Given the description of an element on the screen output the (x, y) to click on. 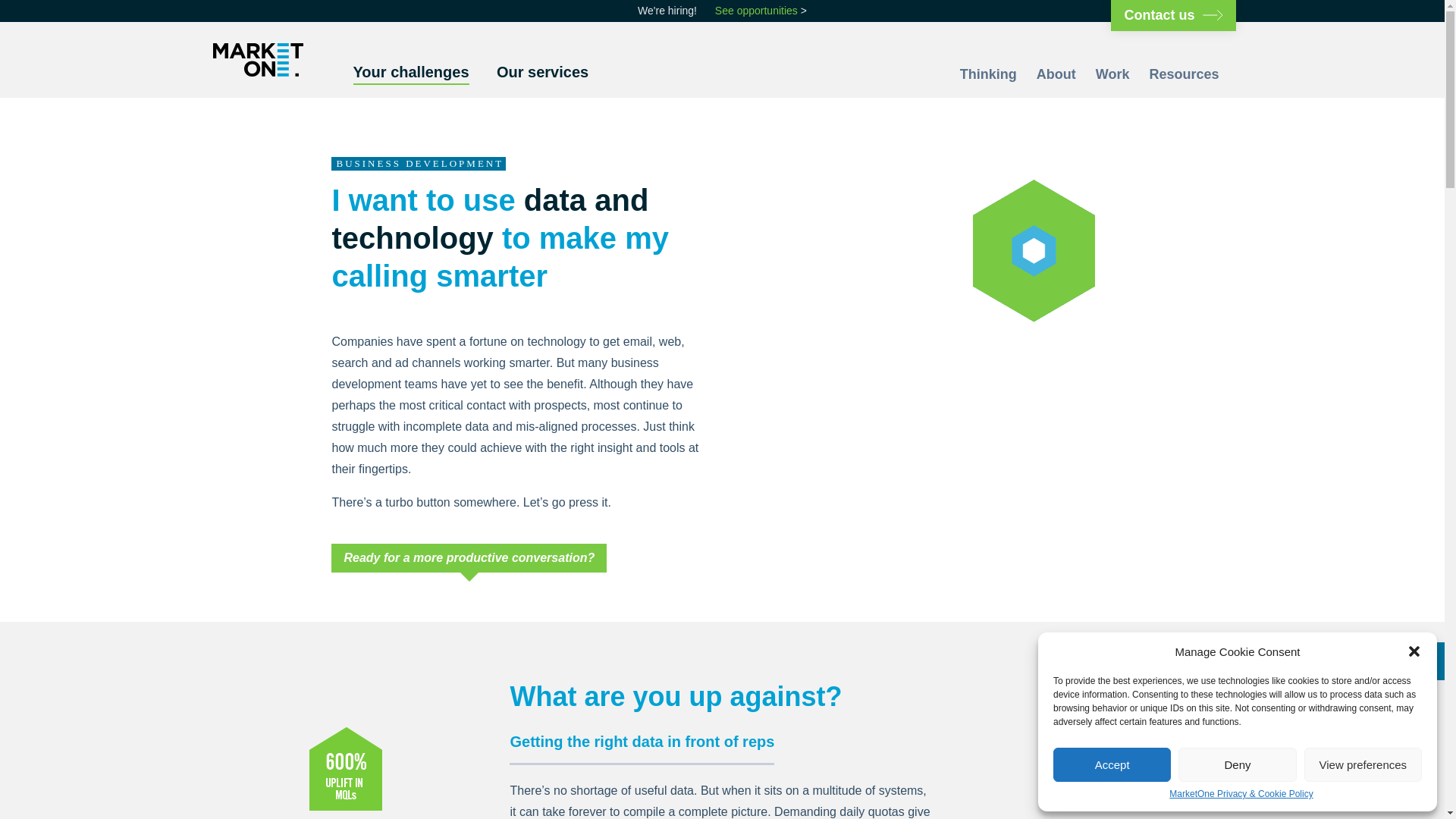
View preferences (1363, 764)
Contact us (1172, 15)
See opportunities (755, 10)
Deny (1236, 764)
Accept (1111, 764)
Your challenges (411, 77)
